Given the description of an element on the screen output the (x, y) to click on. 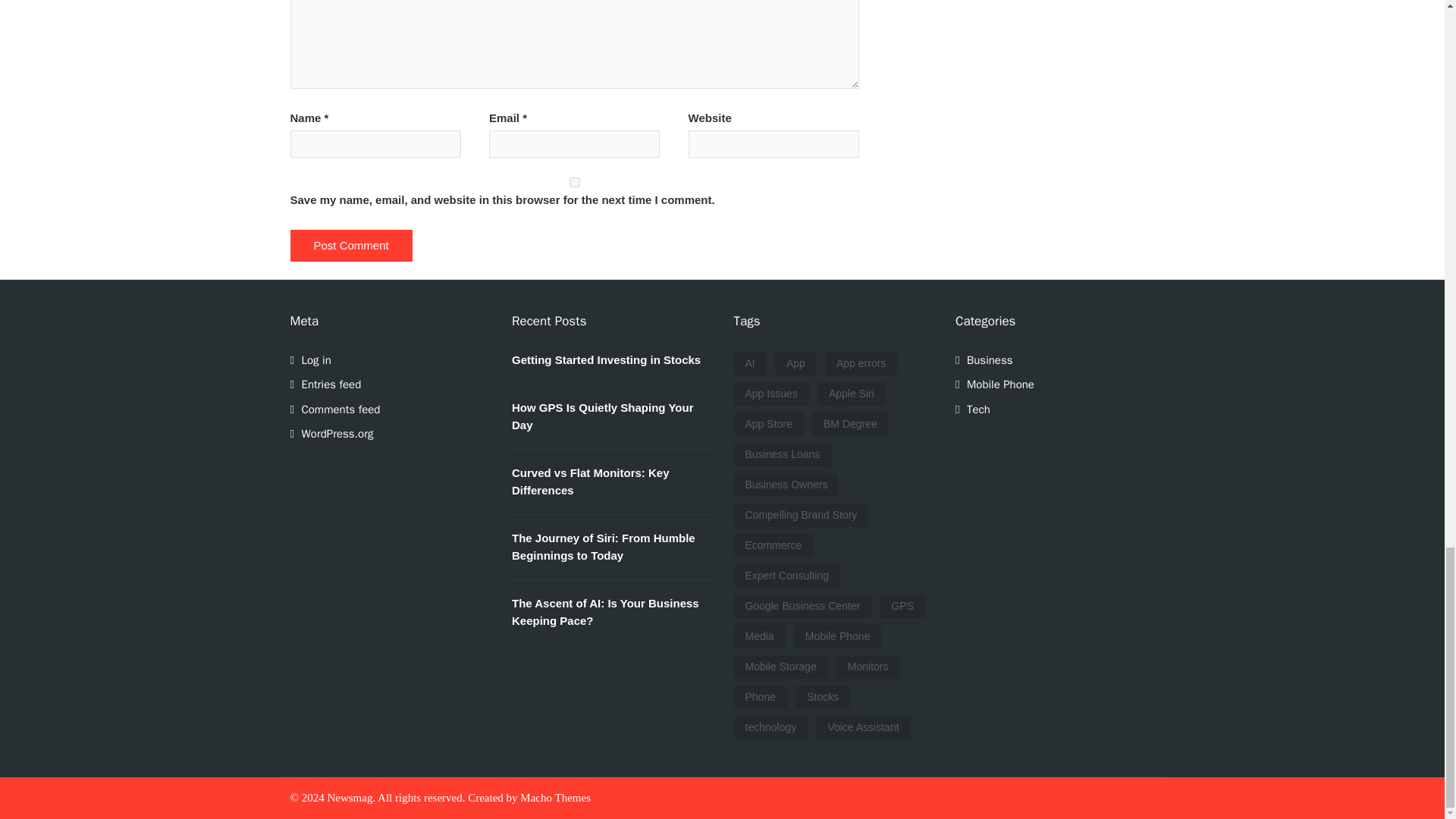
Curved vs Flat Monitors: Key Differences (590, 481)
The Journey of Siri: From Humble Beginnings to Today (603, 546)
How GPS Is Quietly Shaping Your Day (602, 416)
Log in (316, 359)
The Ascent of AI: Is Your Business Keeping Pace? (605, 612)
Getting Started Investing in Stocks (606, 359)
yes (574, 182)
Professional WordPress Themes (555, 797)
Post Comment (350, 246)
Post Comment (350, 246)
Comments feed (340, 409)
AI (750, 363)
Entries feed (331, 384)
WordPress.org (337, 433)
